Given the description of an element on the screen output the (x, y) to click on. 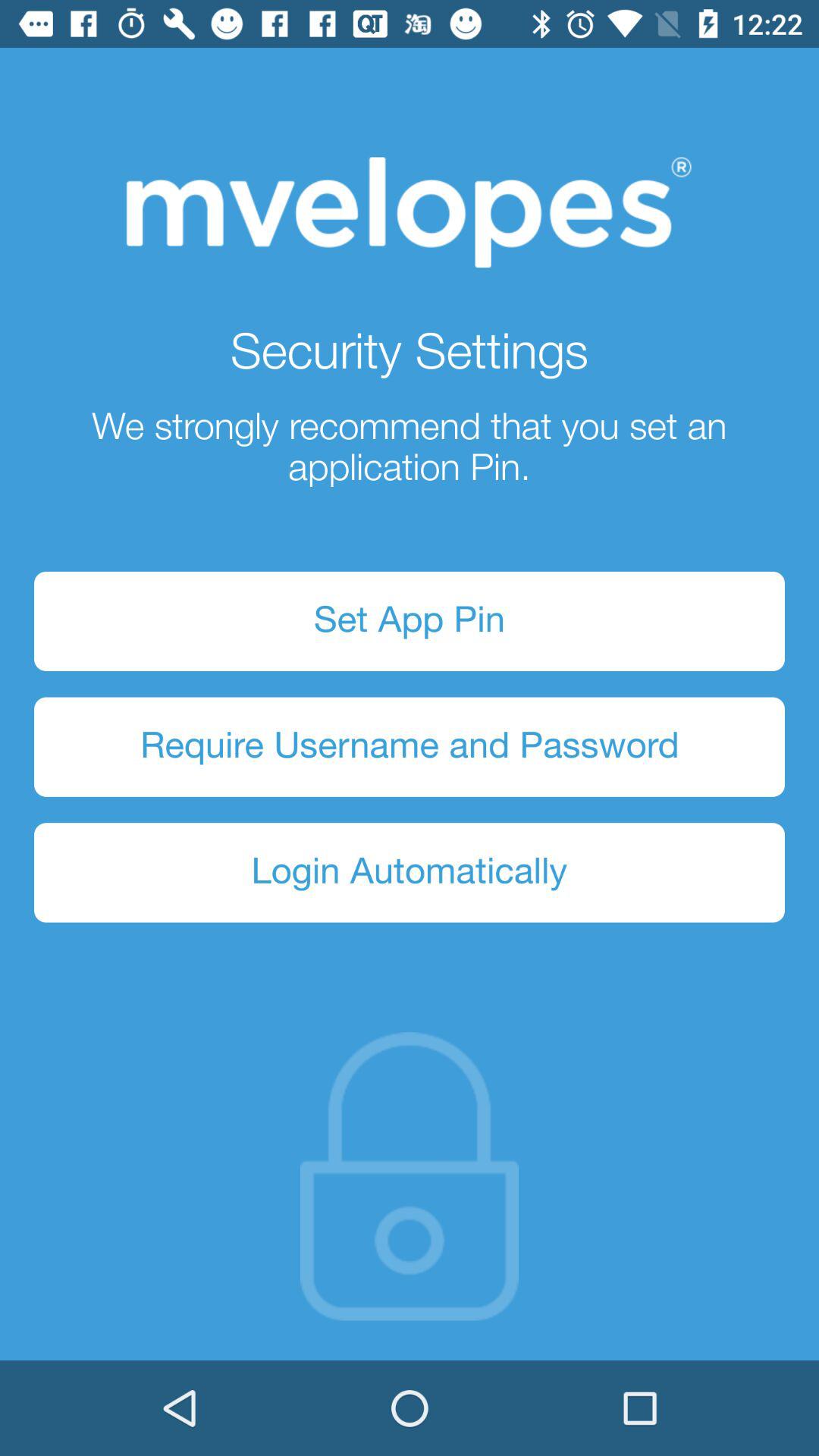
scroll until login automatically (409, 872)
